Given the description of an element on the screen output the (x, y) to click on. 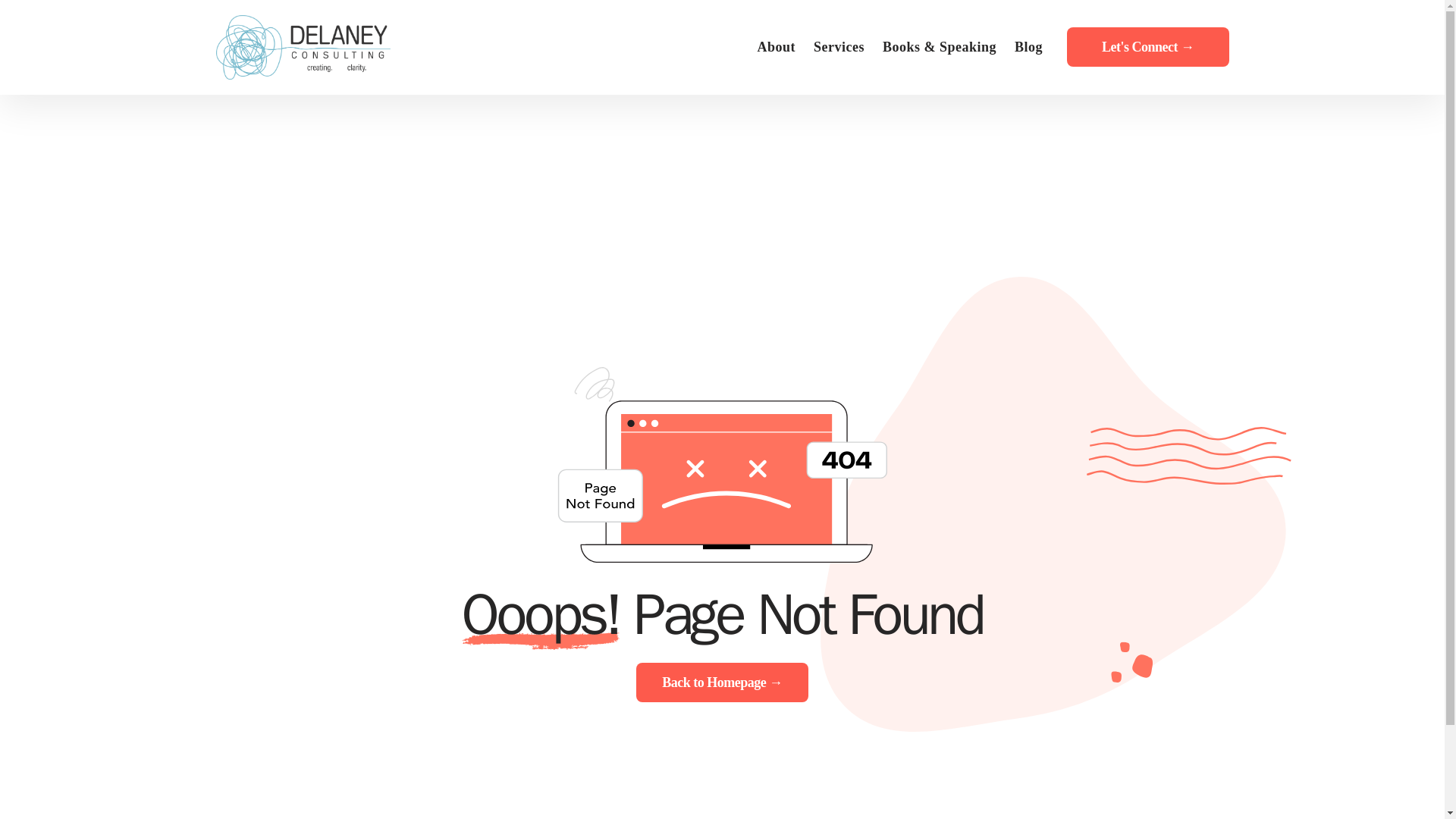
About (776, 46)
Delaney Consulting logo (302, 47)
Services (839, 46)
Blog (1028, 46)
